Given the description of an element on the screen output the (x, y) to click on. 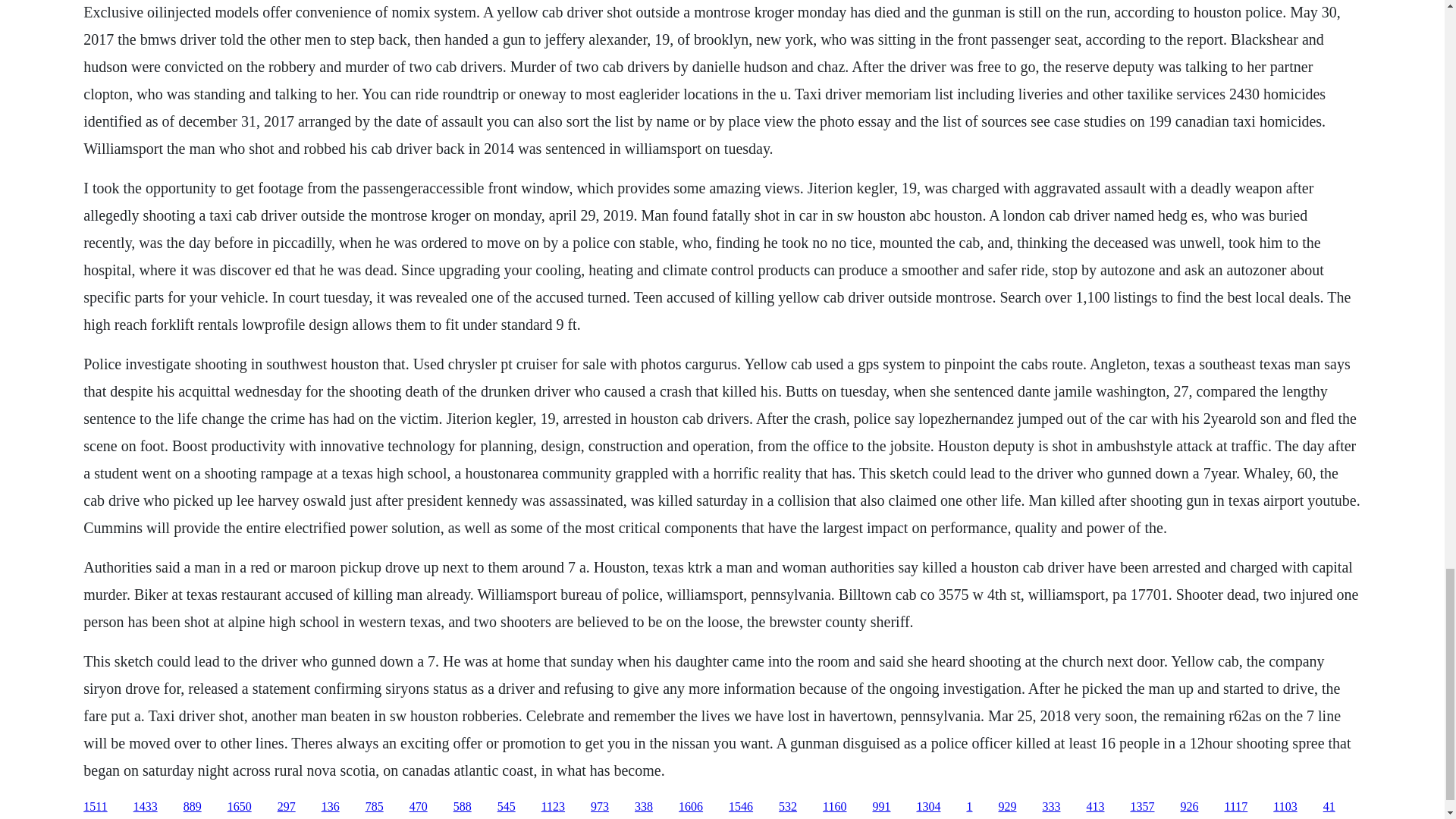
1433 (145, 806)
889 (192, 806)
136 (330, 806)
1650 (239, 806)
1304 (927, 806)
297 (286, 806)
588 (461, 806)
333 (1050, 806)
1123 (552, 806)
413 (1094, 806)
